Given the description of an element on the screen output the (x, y) to click on. 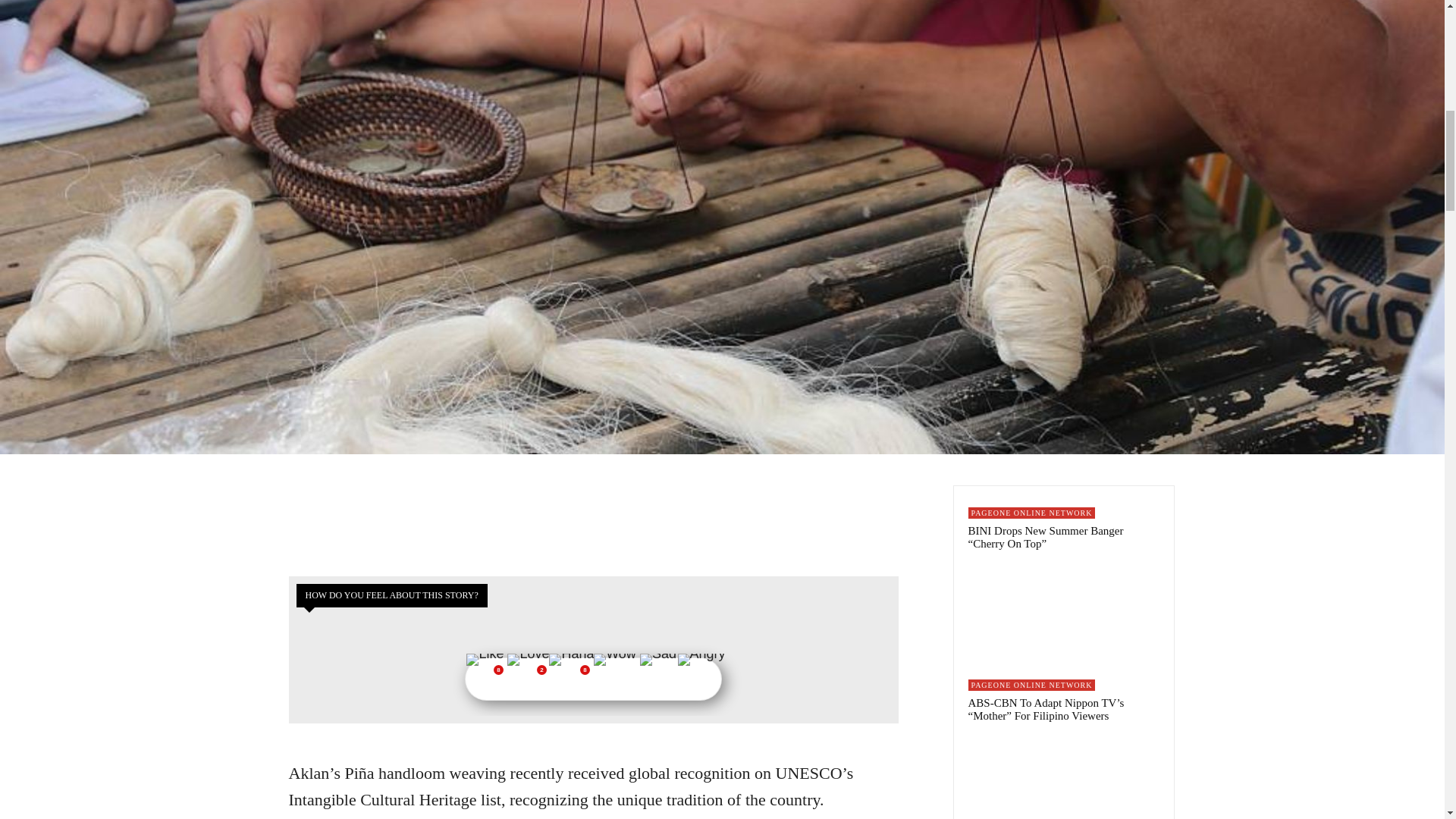
PAGEONE ONLINE NETWORK (1031, 512)
PAGEONE ONLINE NETWORK (1031, 685)
